Given the description of an element on the screen output the (x, y) to click on. 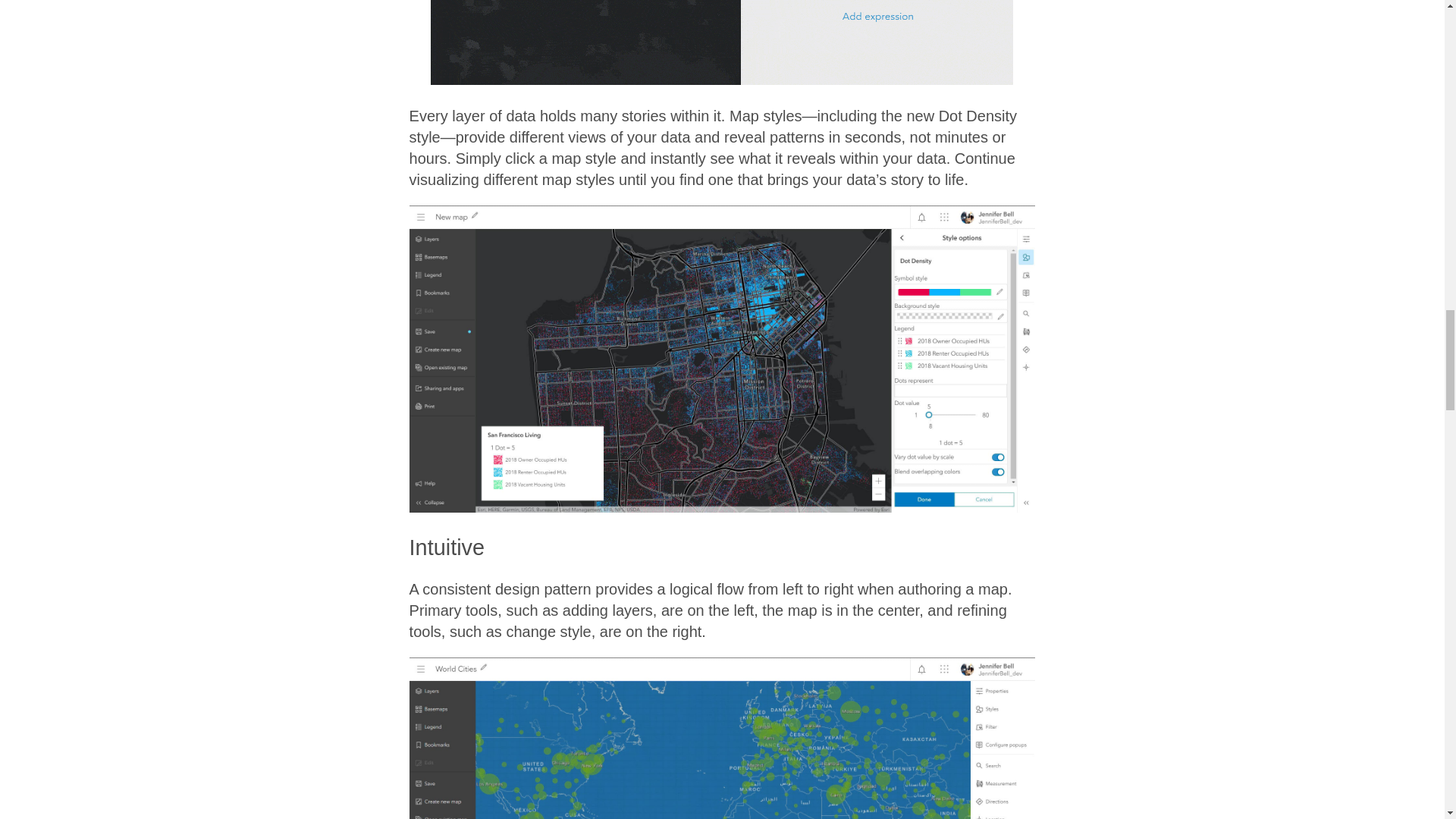
Map showcasing Map Viewer interface (722, 738)
Filtering in Map Viewer Beta (721, 42)
